Given the description of an element on the screen output the (x, y) to click on. 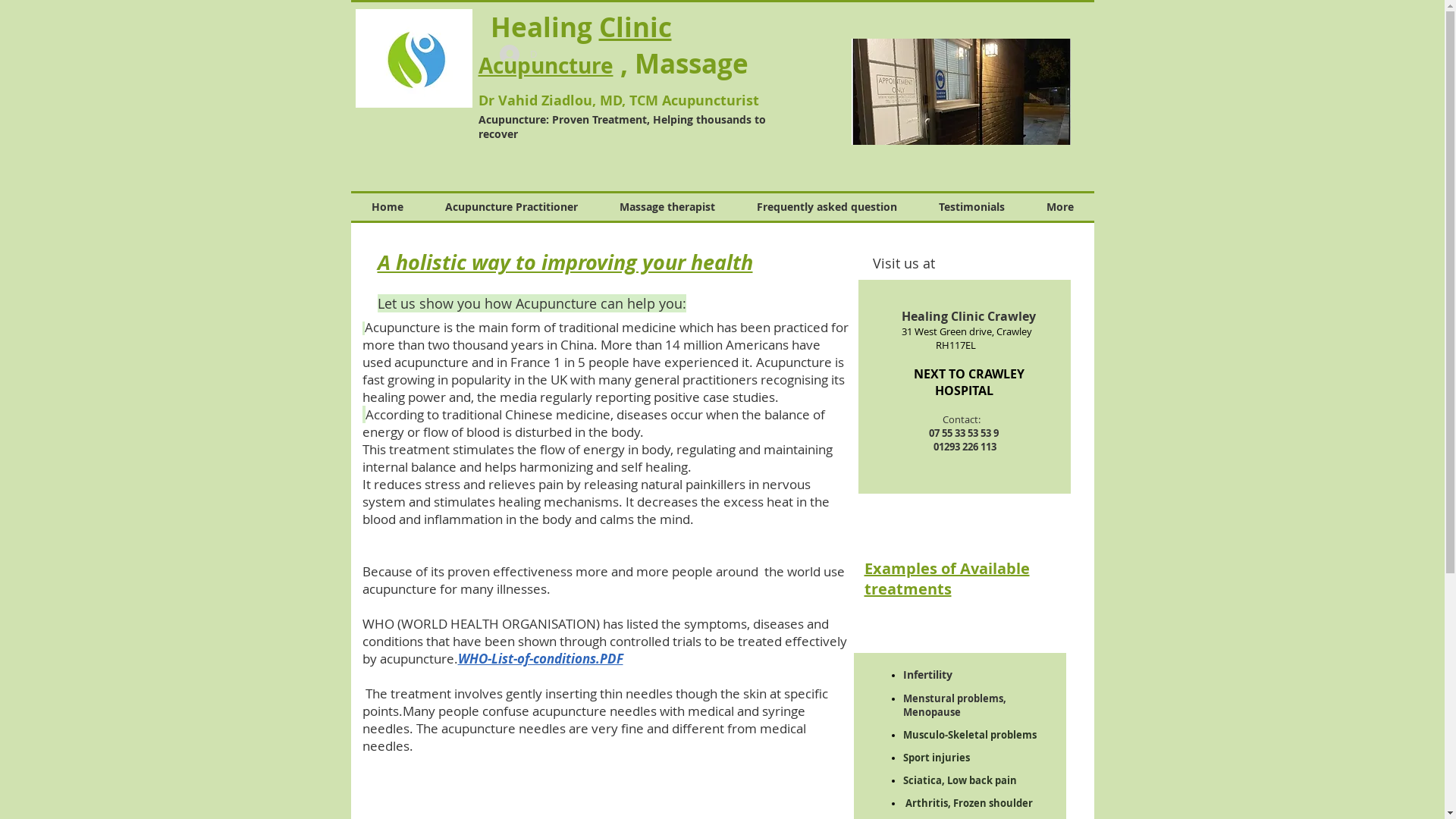
Home Element type: text (386, 206)
Acupuncture Element type: text (544, 65)
D Element type: text (517, 53)
Massage therapist Element type: text (667, 206)
Testimonials Element type: text (971, 206)
Clinic Element type: text (635, 27)
 , Massage     Element type: text (693, 64)
Acupuncture Practitioner Element type: text (511, 206)
Frequently asked question Element type: text (826, 206)
WHO-List-of-conditions.PDF Element type: text (540, 658)
Dr Vahid Ziadlou, MD, TCM Acupuncturist Element type: text (617, 100)
  Healing  Element type: text (537, 27)
